Given the description of an element on the screen output the (x, y) to click on. 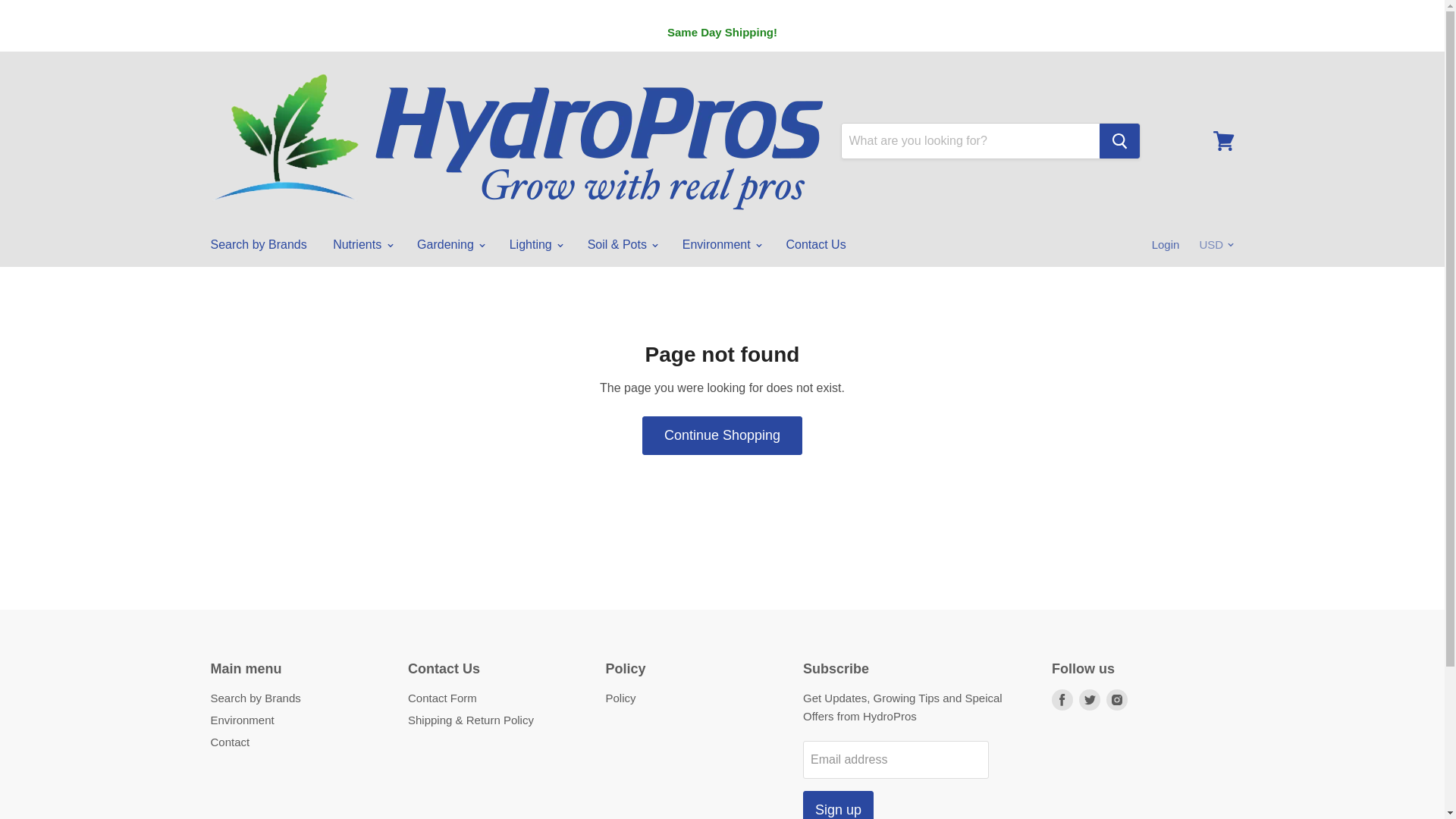
Lighting (535, 245)
View cart (1223, 140)
Contact Us (815, 245)
Login (1165, 245)
Environment (721, 245)
Search by Brands (257, 245)
Gardening (450, 245)
Facebook (1061, 699)
Nutrients (361, 245)
Twitter (1089, 699)
Instagram (1117, 699)
